Given the description of an element on the screen output the (x, y) to click on. 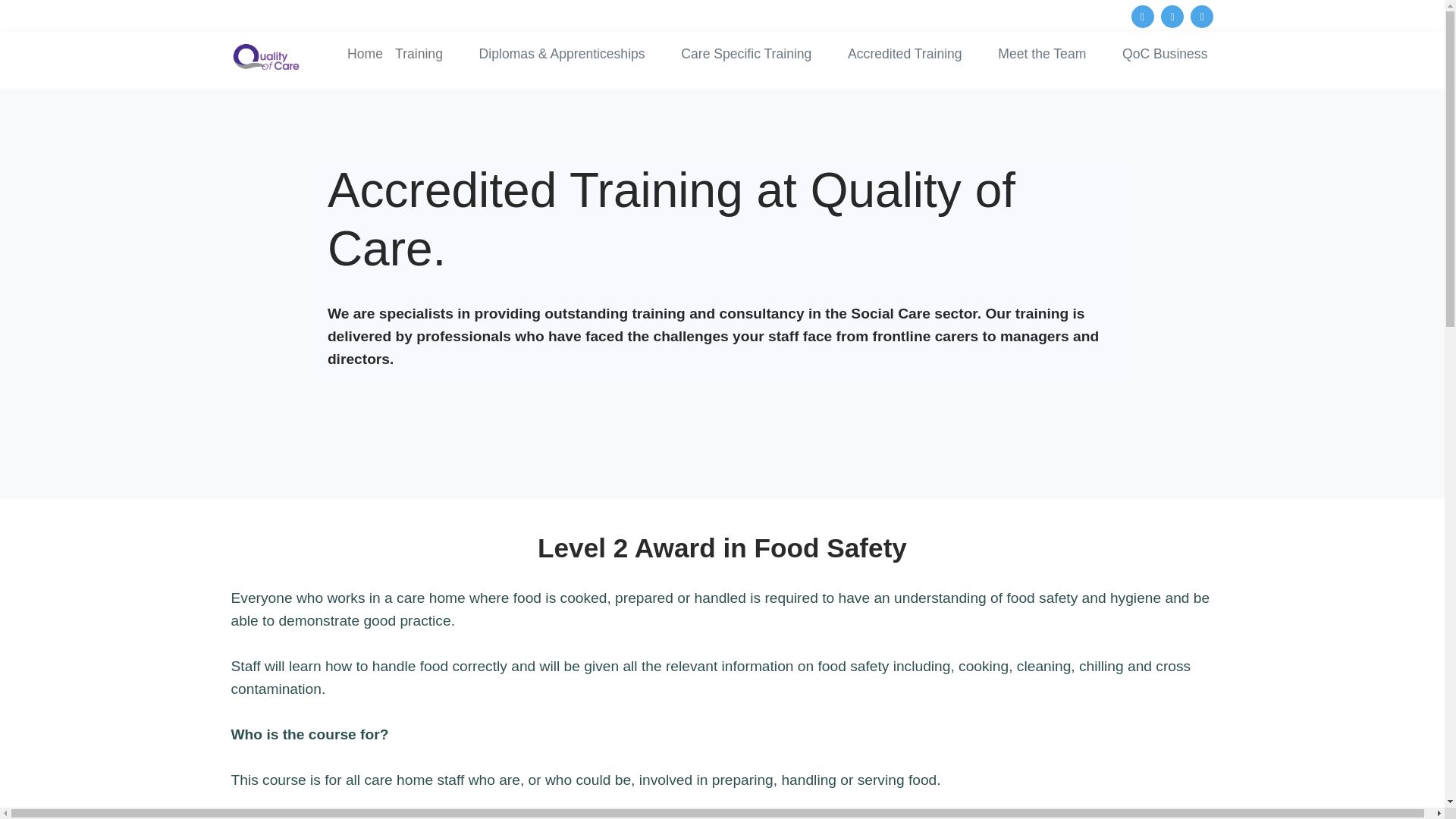
Accredited Training (904, 53)
Training (418, 53)
01902 297873 (452, 14)
Care Specific Training (745, 53)
Home (364, 53)
